Given the description of an element on the screen output the (x, y) to click on. 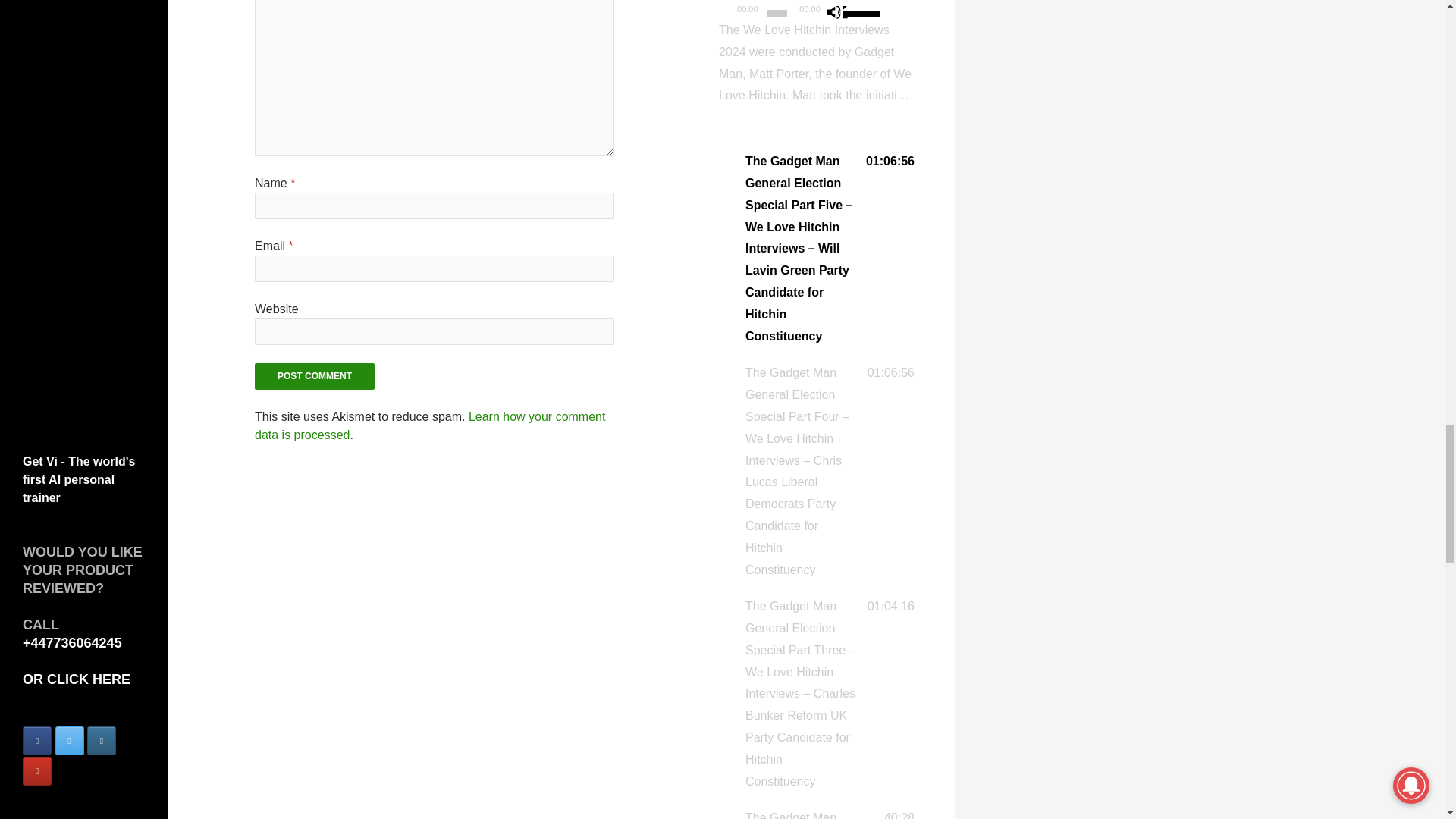
Skip Forward (914, 13)
Jump Back (893, 13)
Play (727, 13)
Post Comment (314, 376)
Mute (837, 13)
